Given the description of an element on the screen output the (x, y) to click on. 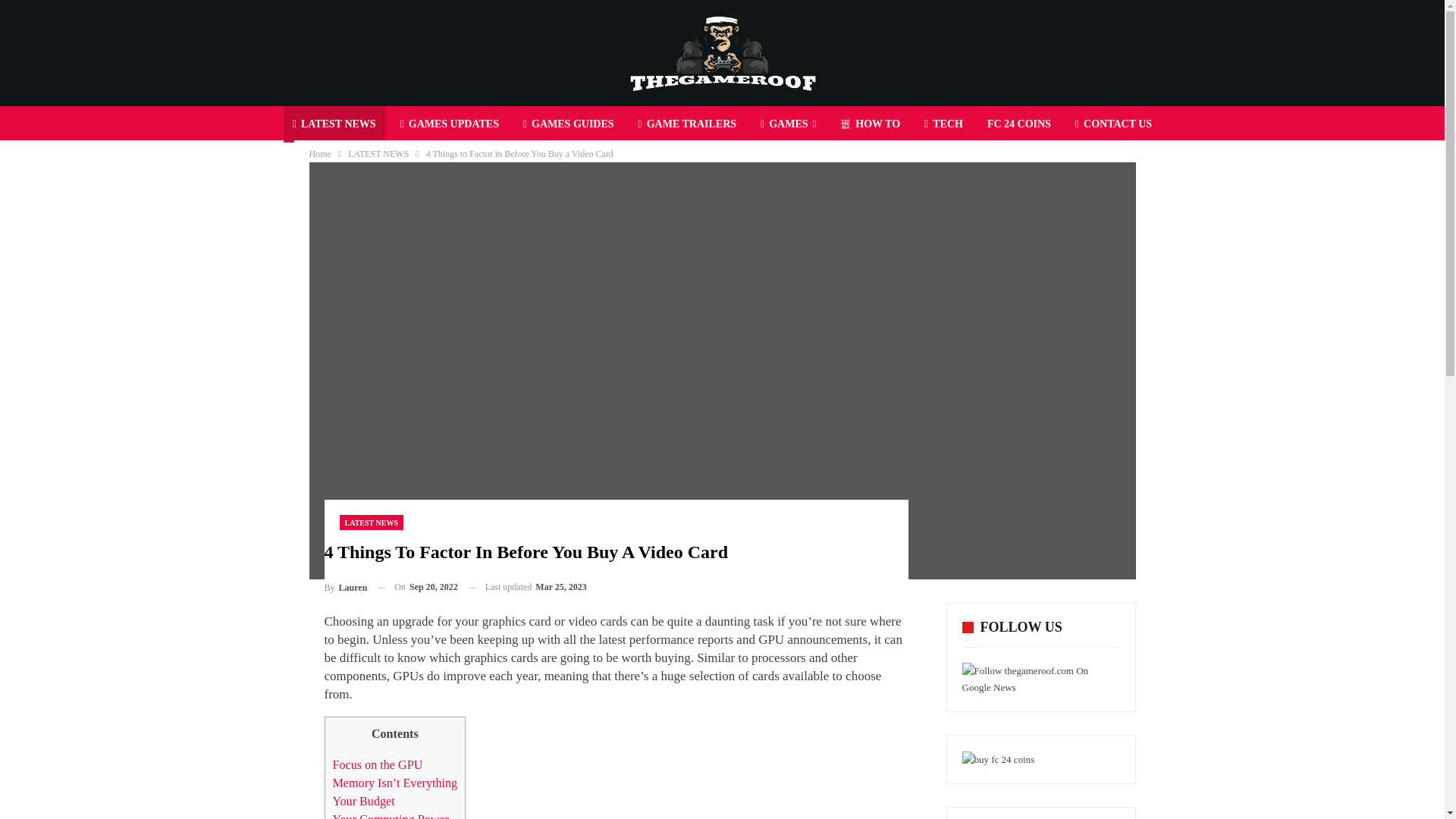
FC 24 COINS (1018, 124)
GAMES GUIDES (568, 124)
LATEST NEWS (378, 153)
LATEST NEWS (371, 522)
GAMES (788, 124)
CONTACT US (1112, 124)
Browse Author Articles (346, 587)
Your Computing Power (389, 816)
TECH (943, 124)
Follow Us on Google News (1039, 679)
LATEST NEWS (334, 124)
Focus on the GPU (376, 764)
Your Budget (362, 800)
By Lauren (346, 587)
HOW TO (869, 124)
